Given the description of an element on the screen output the (x, y) to click on. 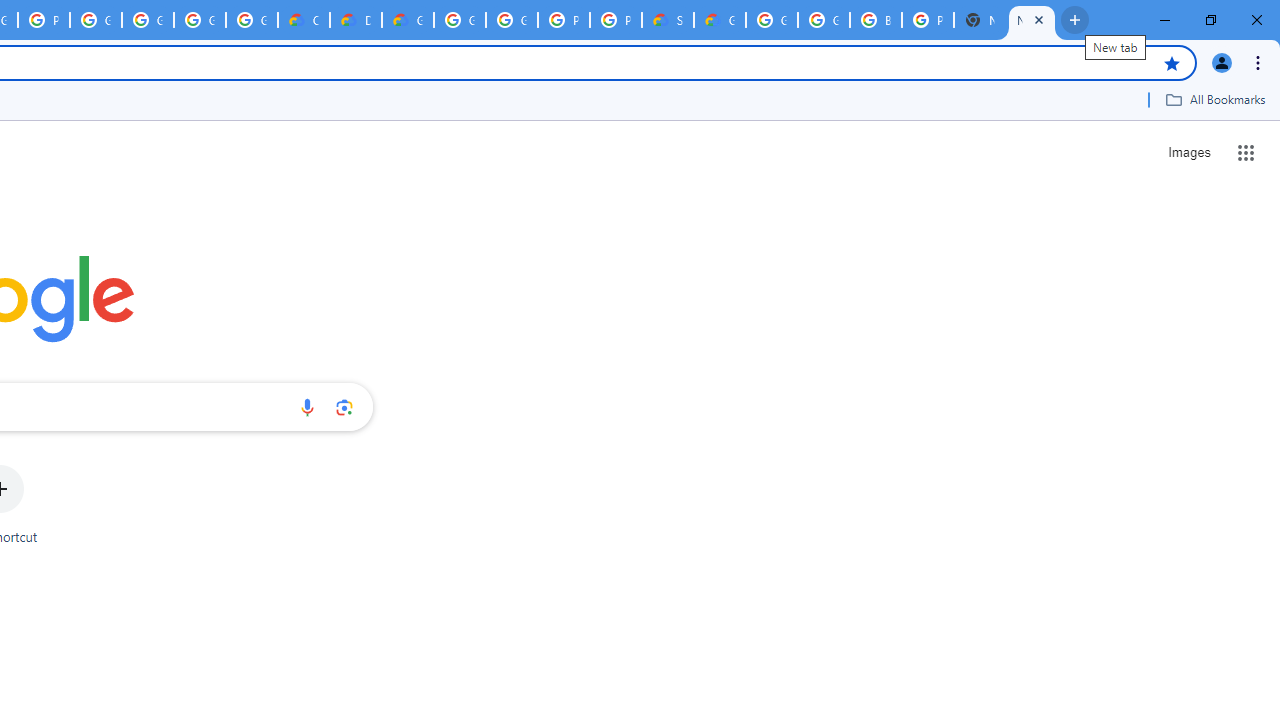
Google Cloud Platform (823, 20)
Customer Care | Google Cloud (303, 20)
Google Workspace - Specific Terms (200, 20)
Google Cloud Platform (459, 20)
Google Cloud Service Health (719, 20)
